Given the description of an element on the screen output the (x, y) to click on. 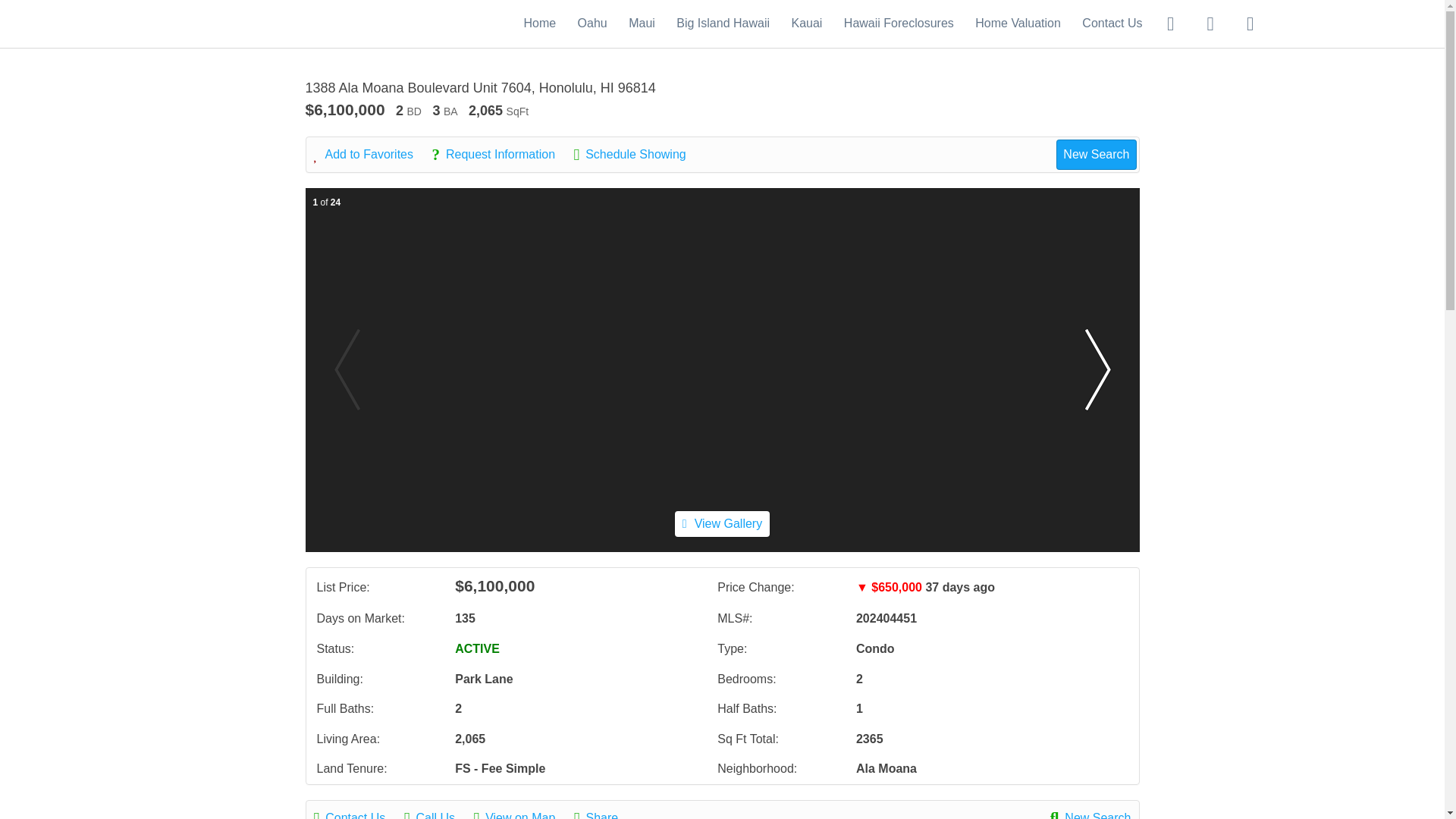
New Search (1096, 154)
Call Us (437, 812)
Hawaii Foreclosures (898, 22)
Share (603, 812)
Oahu (592, 22)
Schedule Showing (636, 154)
Contact Us (1111, 22)
Big Island Hawaii (723, 22)
View on Map (521, 812)
Maui (641, 22)
Home Valuation (1018, 22)
Kauai (806, 22)
New Search (1090, 812)
View Gallery (722, 524)
Home (539, 22)
